Given the description of an element on the screen output the (x, y) to click on. 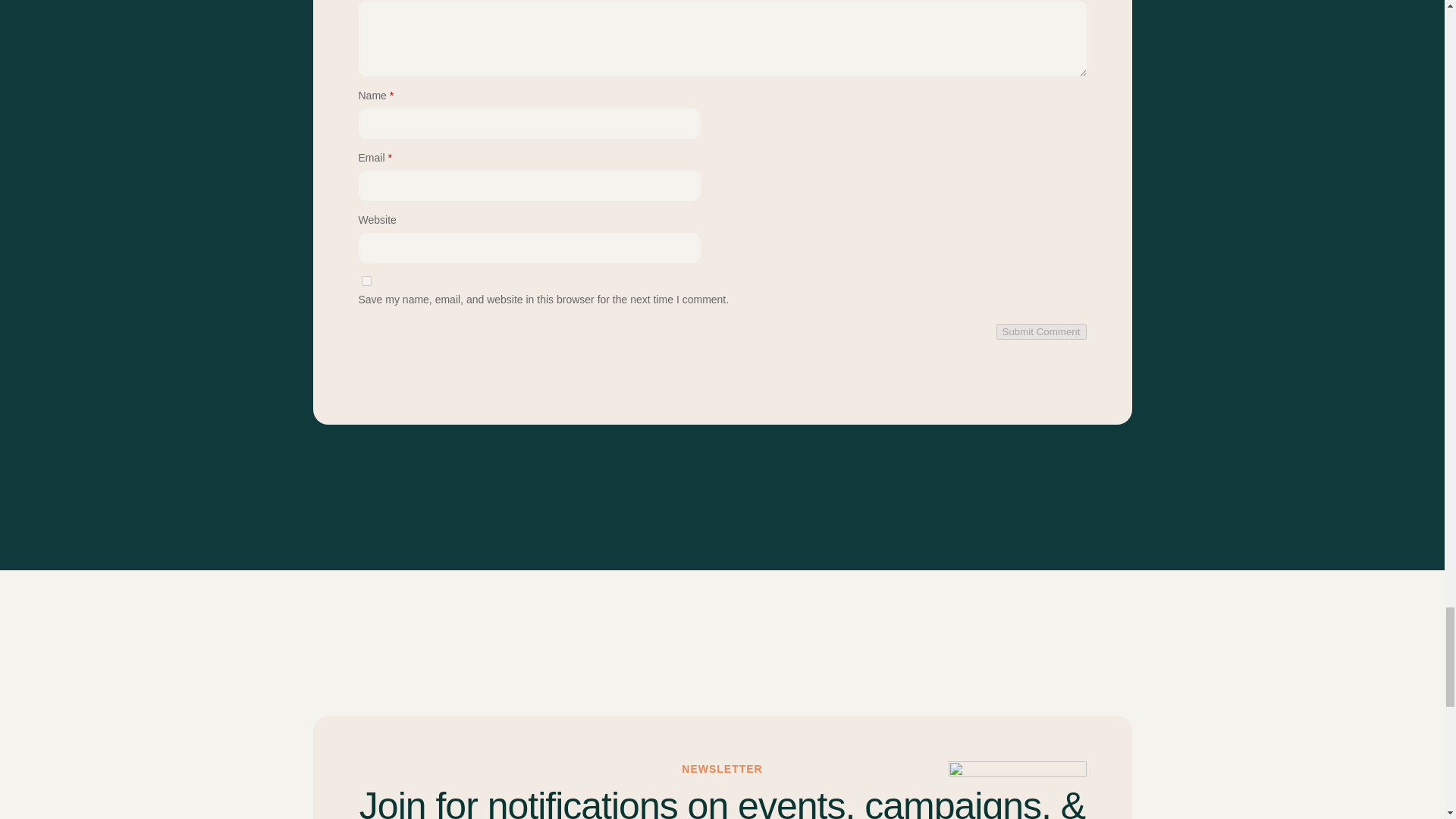
yes (366, 280)
Submit Comment (1040, 331)
NGO-img-02 (1016, 790)
